Given the description of an element on the screen output the (x, y) to click on. 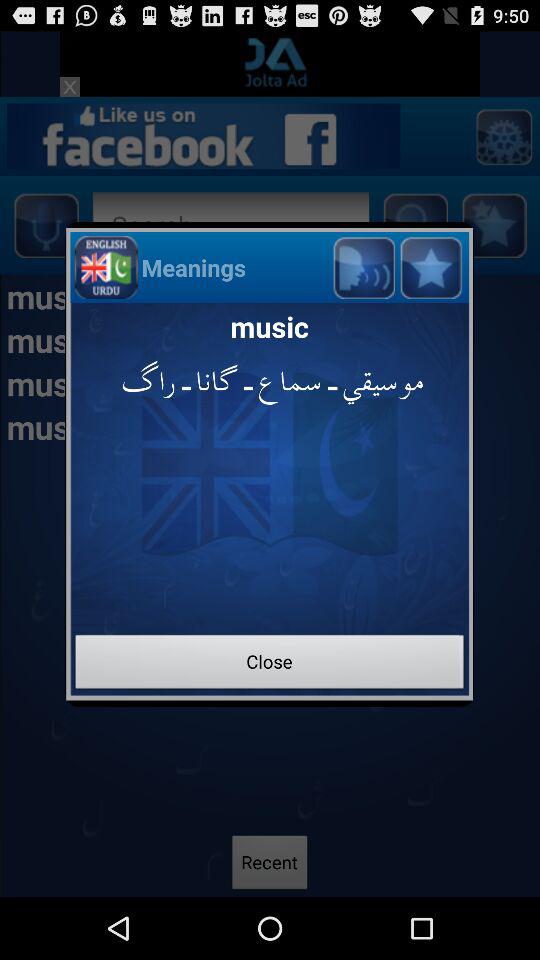
star button (430, 266)
